Given the description of an element on the screen output the (x, y) to click on. 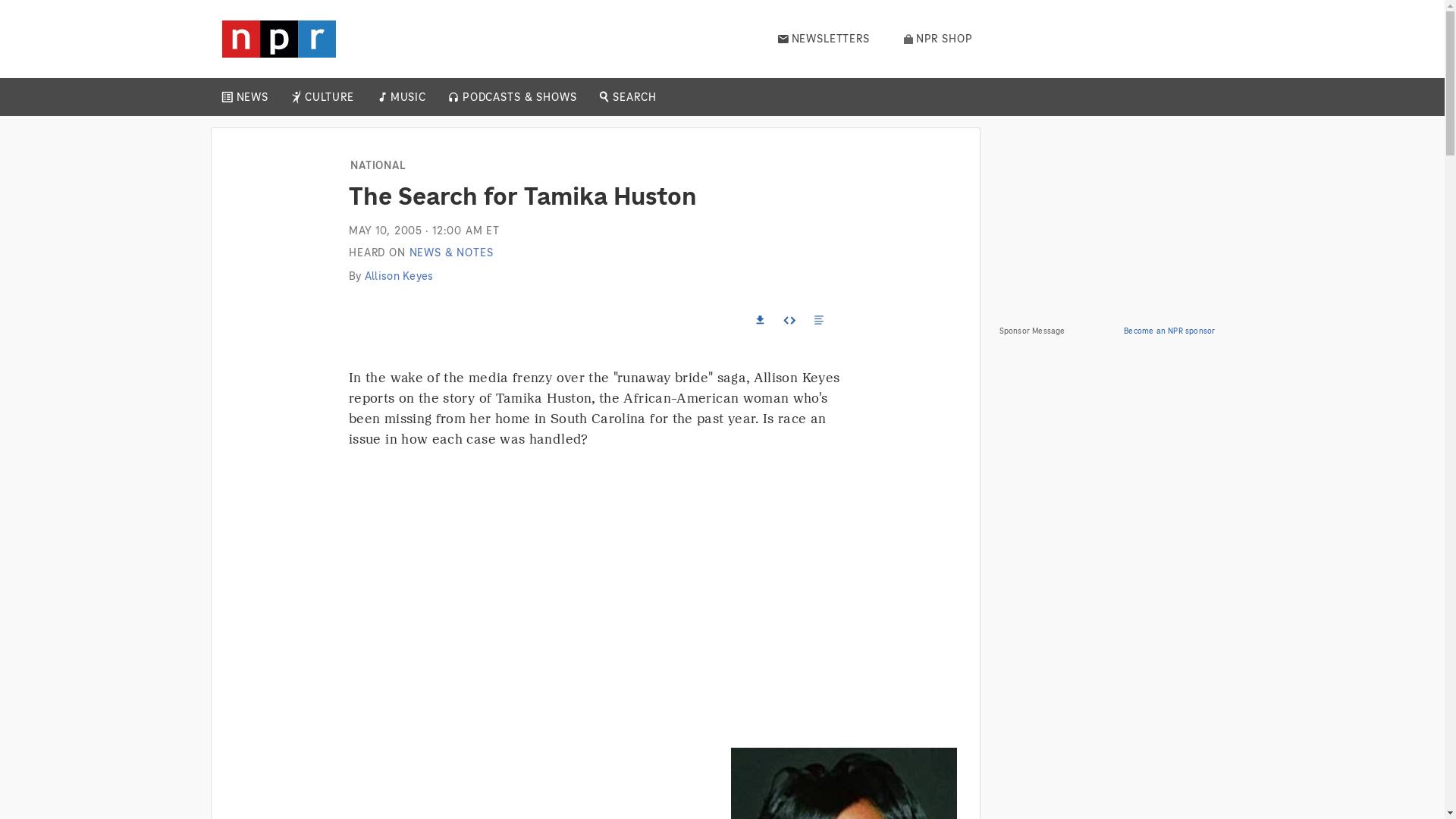
MUSIC (407, 96)
CULTURE (328, 96)
NPR SHOP (938, 38)
NEWS (251, 96)
NEWSLETTERS (823, 38)
